Given the description of an element on the screen output the (x, y) to click on. 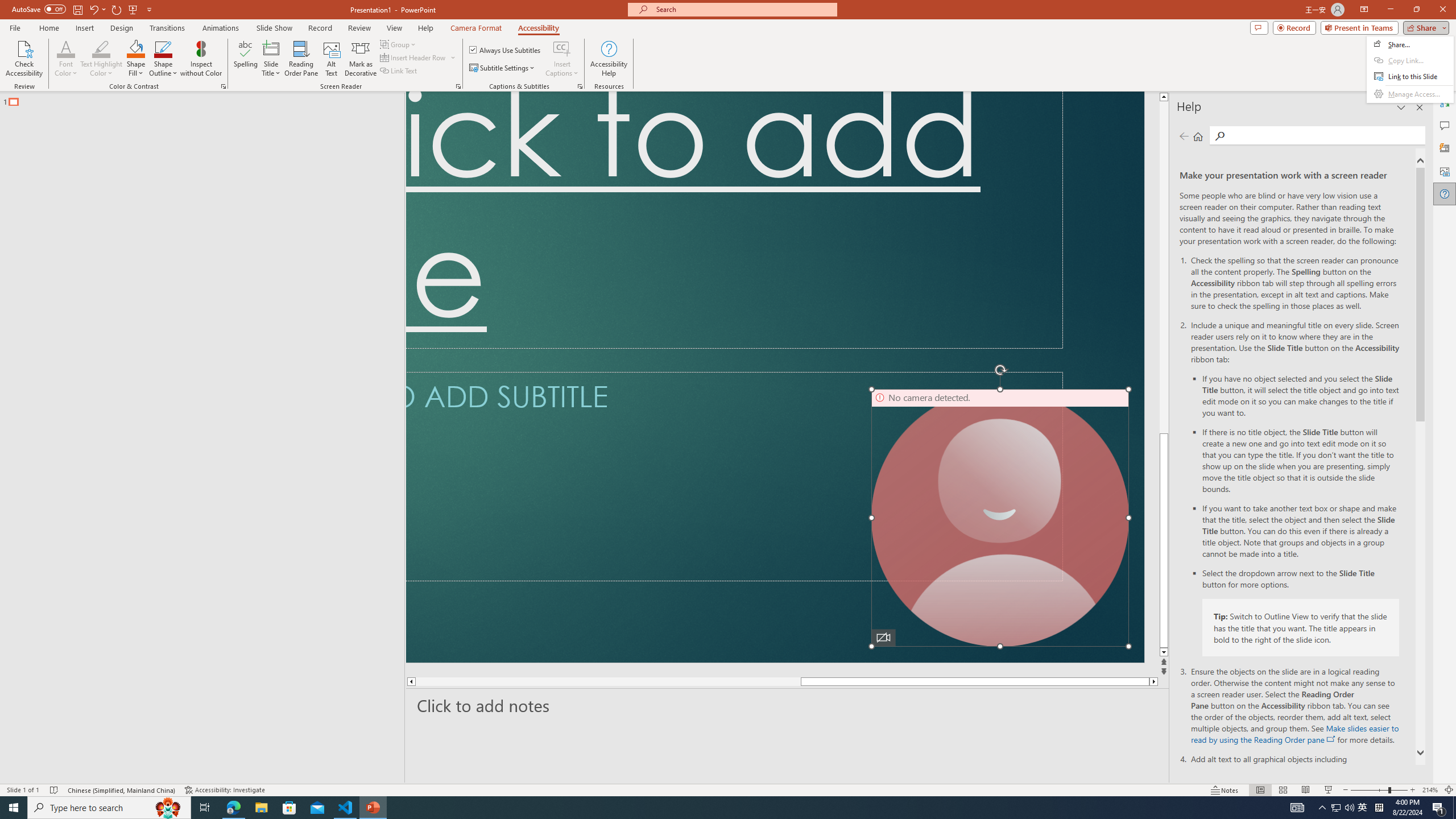
Color & Contrast (223, 85)
